Given the description of an element on the screen output the (x, y) to click on. 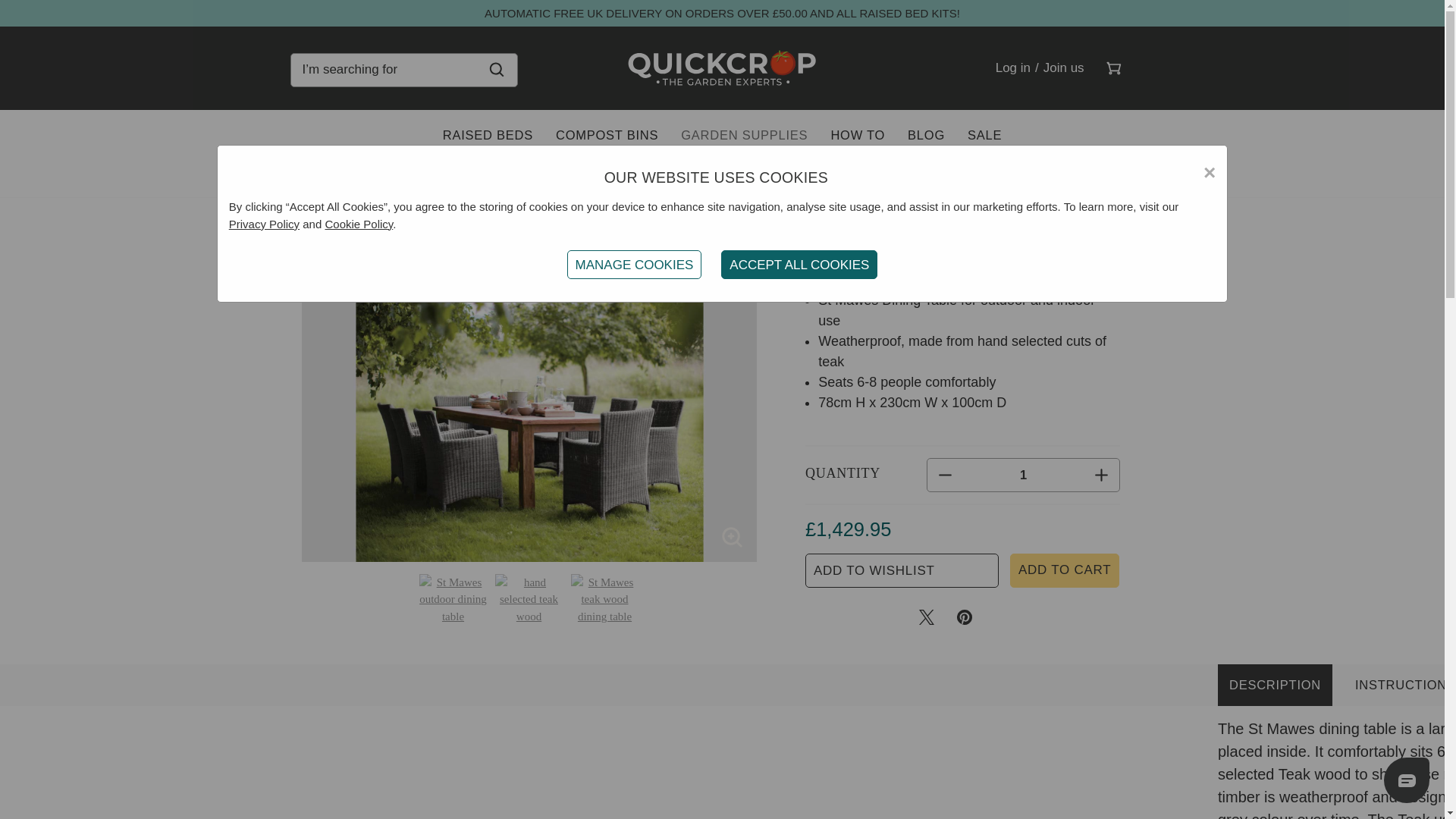
Join us (1062, 67)
Log in (1012, 67)
GARDEN SUPPLIES (743, 135)
Quickcrop UK (721, 67)
1 (1023, 475)
RAISED BEDS (487, 135)
Add to Cart (1064, 570)
COMPOST BINS (606, 135)
Quickcrop UK (721, 67)
